Given the description of an element on the screen output the (x, y) to click on. 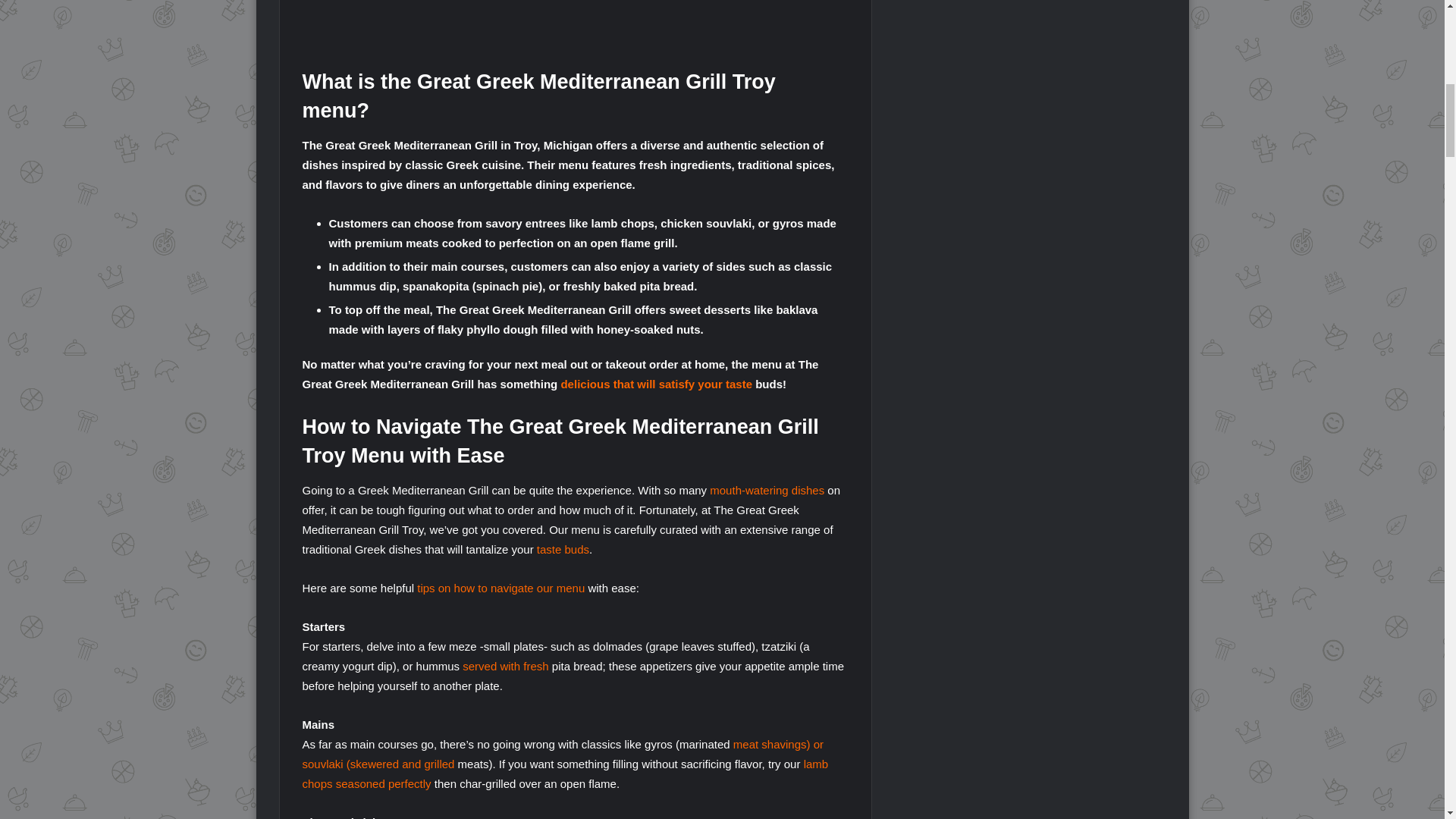
served with fresh (505, 666)
mouth-watering dishes (767, 490)
lamb chops seasoned perfectly (564, 773)
delicious that will satisfy your taste (656, 383)
taste buds (563, 549)
tips on how to navigate our menu (500, 587)
